Given the description of an element on the screen output the (x, y) to click on. 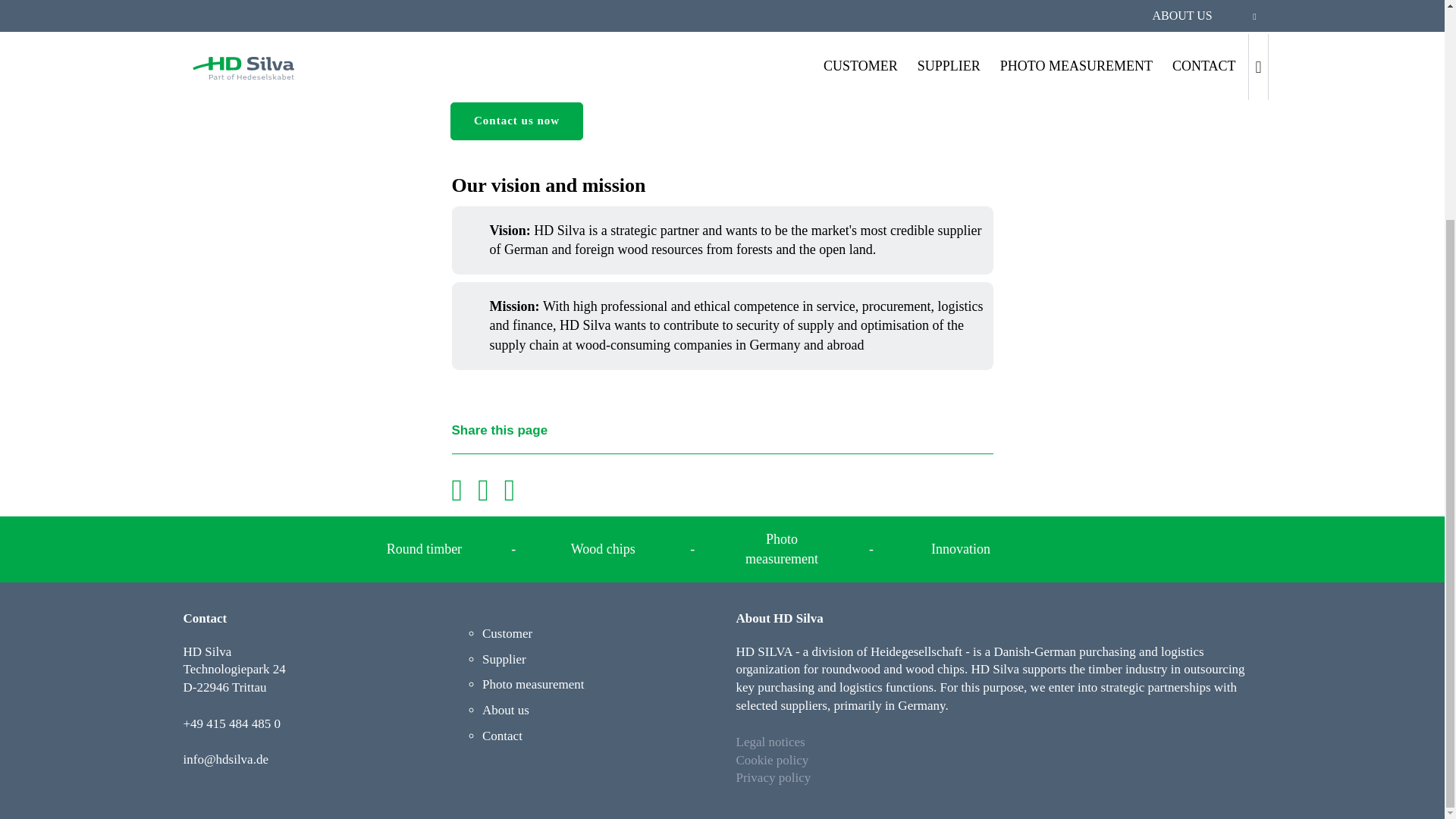
Privacy policy (772, 786)
Customer (506, 633)
Contact us now (516, 121)
Cookie policy (771, 759)
Contact (501, 735)
About us (505, 709)
Legal notices (770, 741)
Photo measurement (533, 684)
Supplier (503, 658)
